Given the description of an element on the screen output the (x, y) to click on. 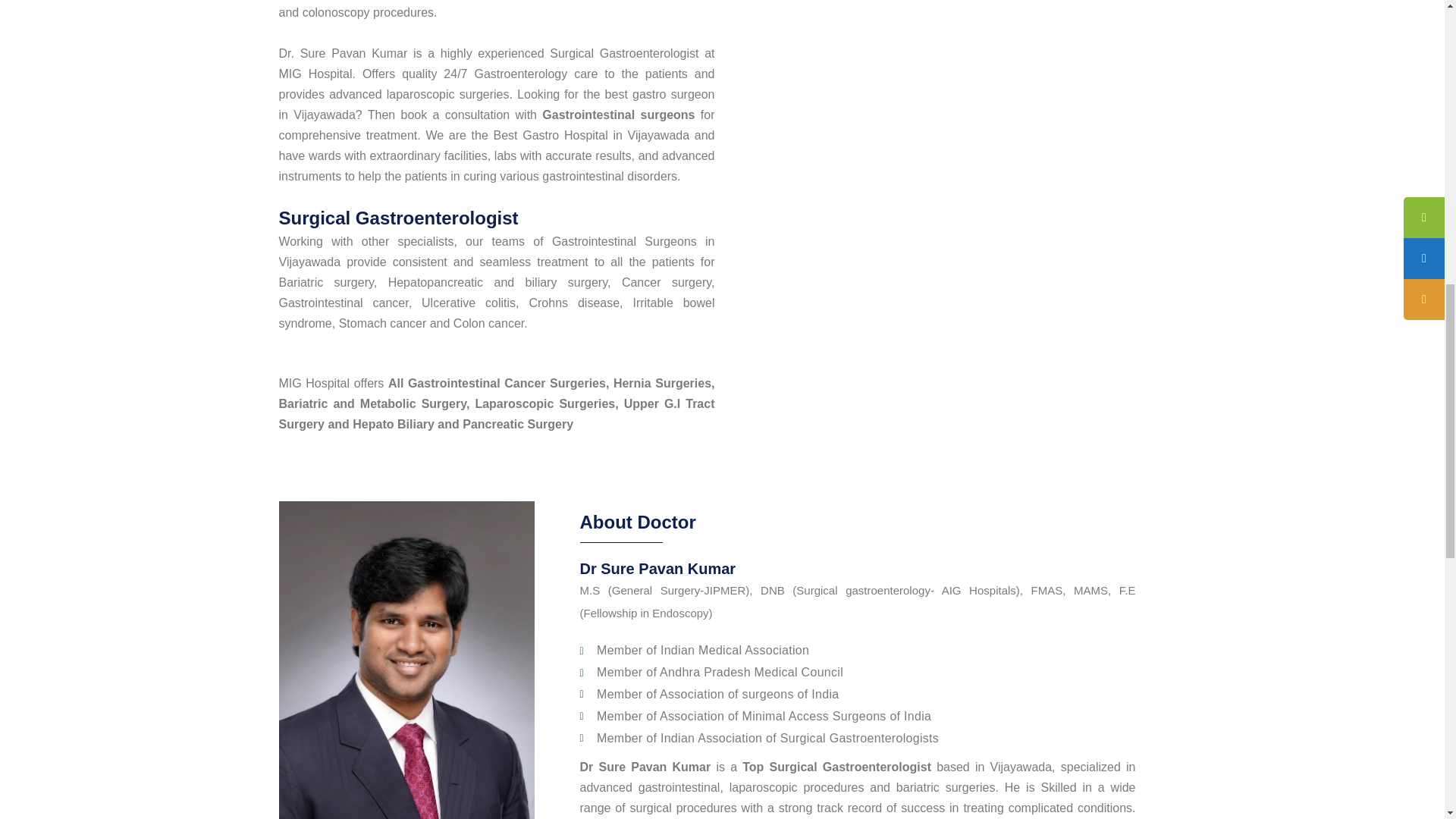
Laparoscopic Surgeries (544, 403)
All Gastrointestinal Cancer Surgeries (496, 382)
Upper G.I Tract Surgery (496, 413)
Bariatric and Metabolic Surgery (372, 403)
Hepato Biliary and Pancreatic Surgery (462, 423)
Top Surgical Gastroenterologist (836, 766)
Hernia Surgeries (661, 382)
Gastrointestinal surgeons (617, 114)
